Given the description of an element on the screen output the (x, y) to click on. 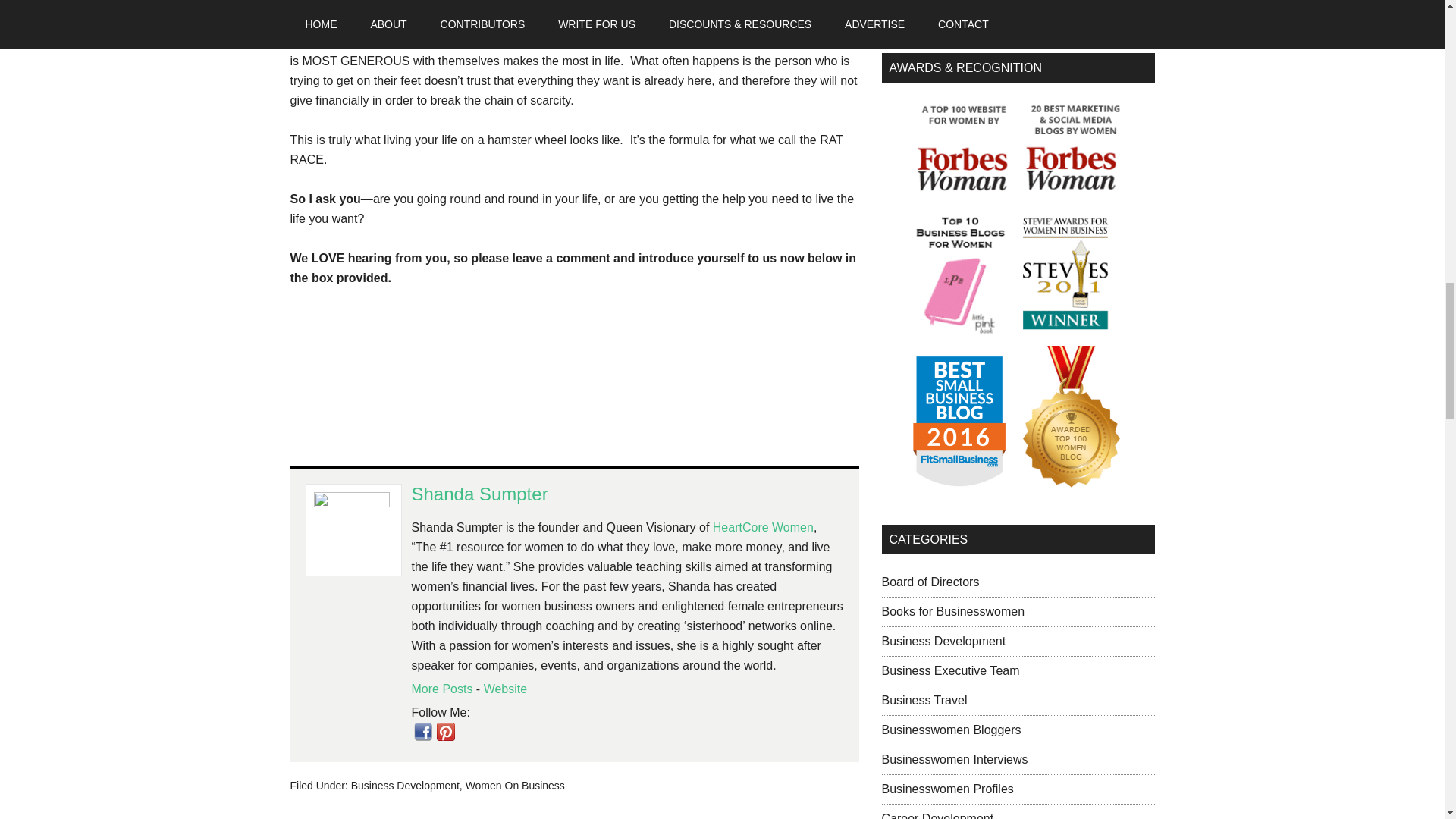
Women blogs (1017, 539)
Businesswomen Bloggers (950, 729)
Shanda Sumpter (478, 494)
Business Travel (923, 699)
Business Development (405, 785)
Shanda Sumpter (505, 688)
Business Executive Team (949, 670)
Board of Directors (929, 581)
CATEGORIES (1017, 539)
Business Development (943, 640)
HeartCore Women (763, 526)
Businesswomen Profiles (946, 788)
More Posts (440, 688)
Shanda Sumpter (478, 494)
Career Development (936, 815)
